Given the description of an element on the screen output the (x, y) to click on. 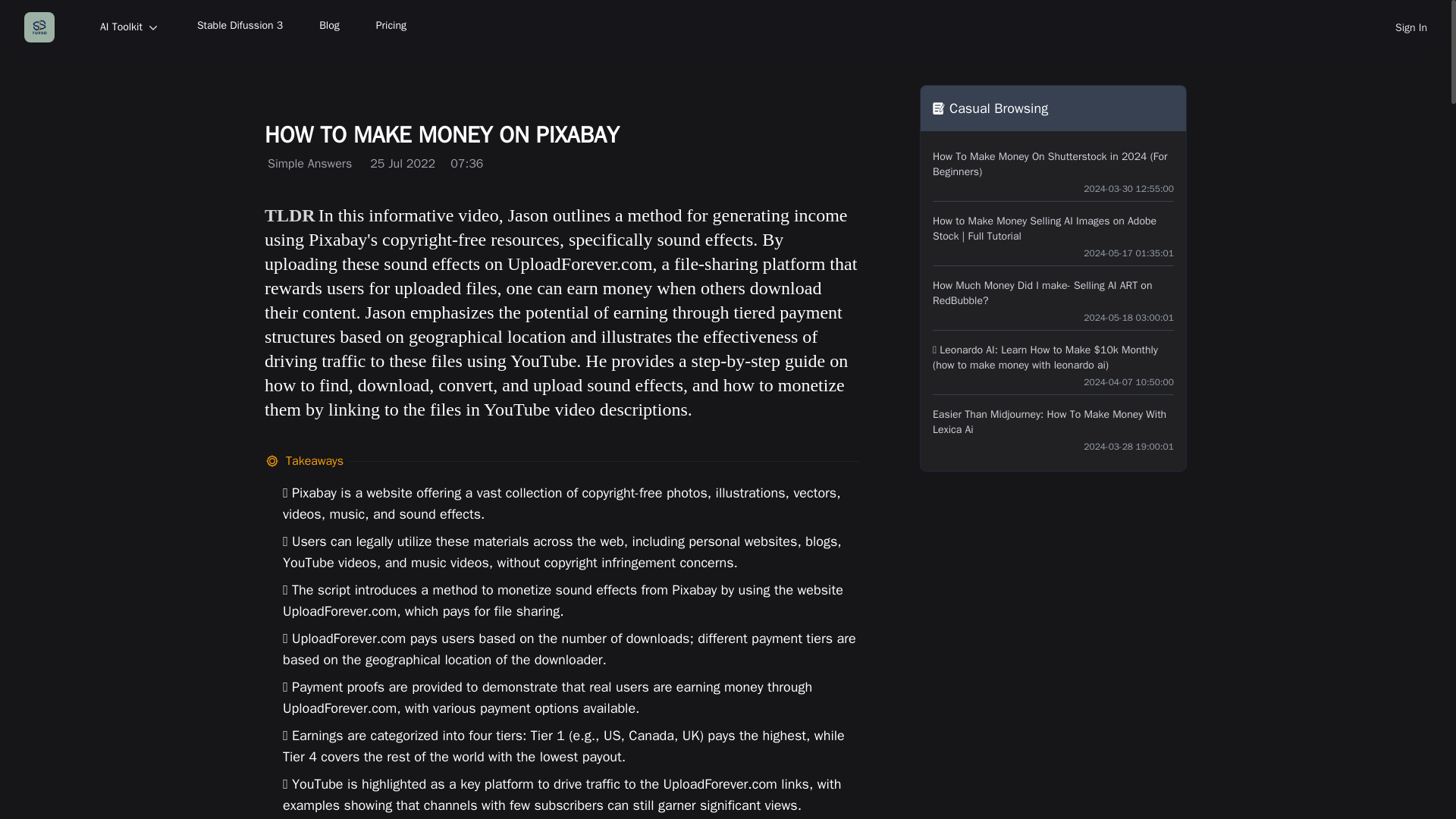
Pricing (390, 27)
Stable Difussion 3 (239, 27)
Blog (329, 27)
Sign In (1410, 27)
AI Toolkit (130, 27)
